Given the description of an element on the screen output the (x, y) to click on. 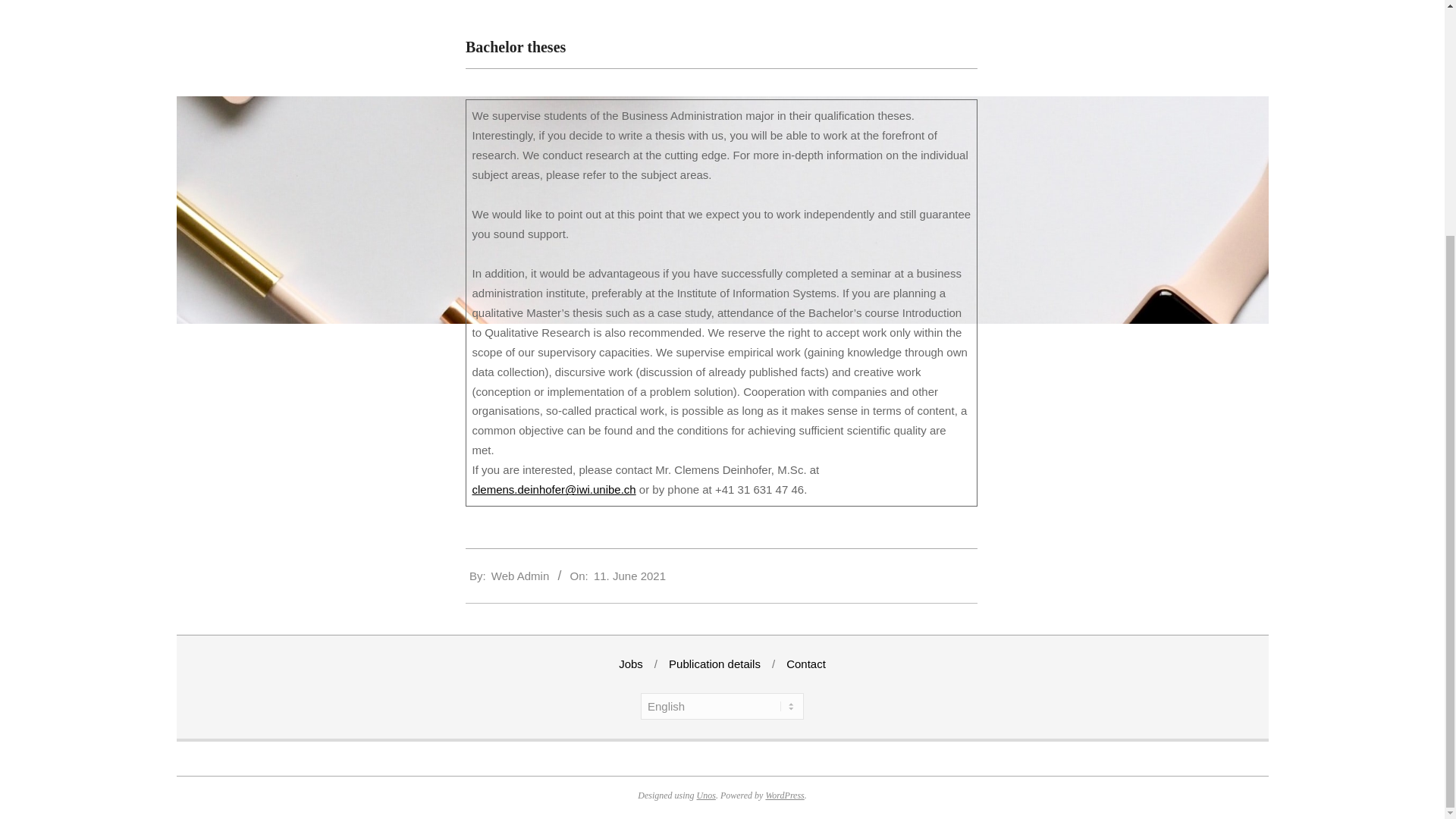
Friday, June 11, 2021, 4:22 pm (629, 575)
Posts by Web Admin (520, 575)
Unos WordPress Theme (706, 795)
